Given the description of an element on the screen output the (x, y) to click on. 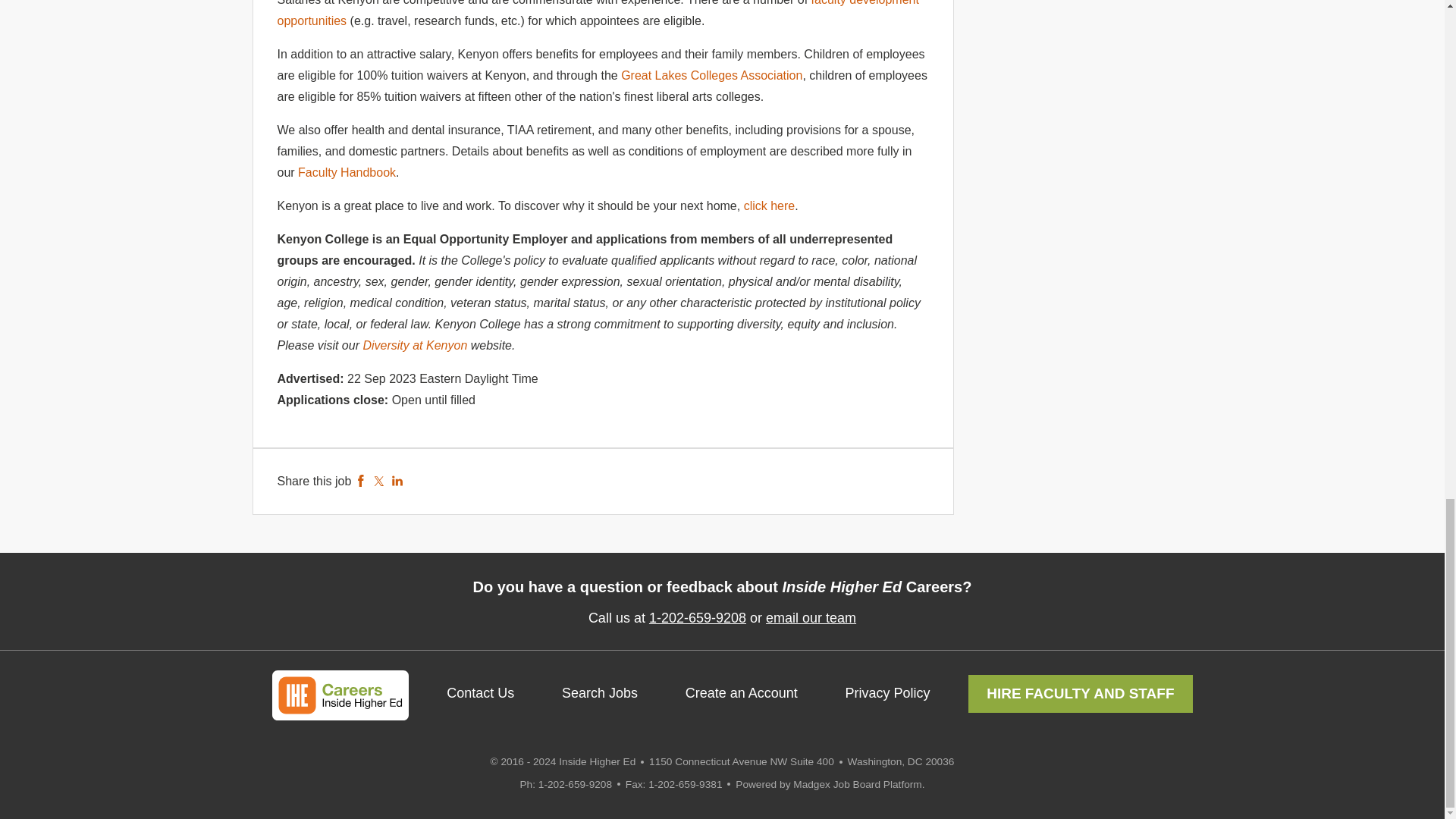
Faculty Handbook (345, 172)
click here (769, 205)
faculty development opportunities (598, 13)
Diversity at Kenyon (414, 345)
Great Lakes Colleges Association (711, 74)
Inside Higher Ed Careers (338, 695)
